Given the description of an element on the screen output the (x, y) to click on. 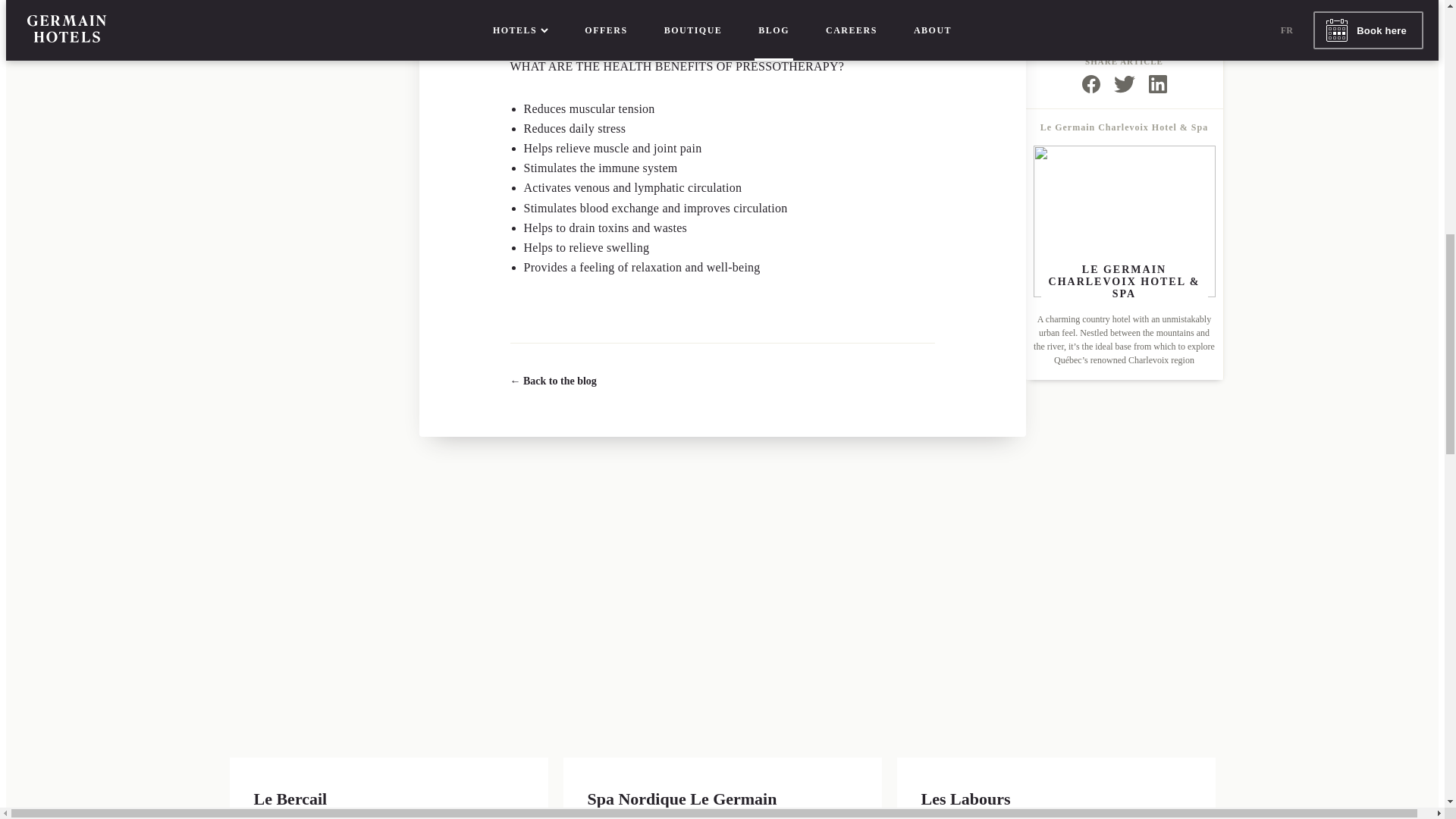
Back to the blog (553, 380)
